Given the description of an element on the screen output the (x, y) to click on. 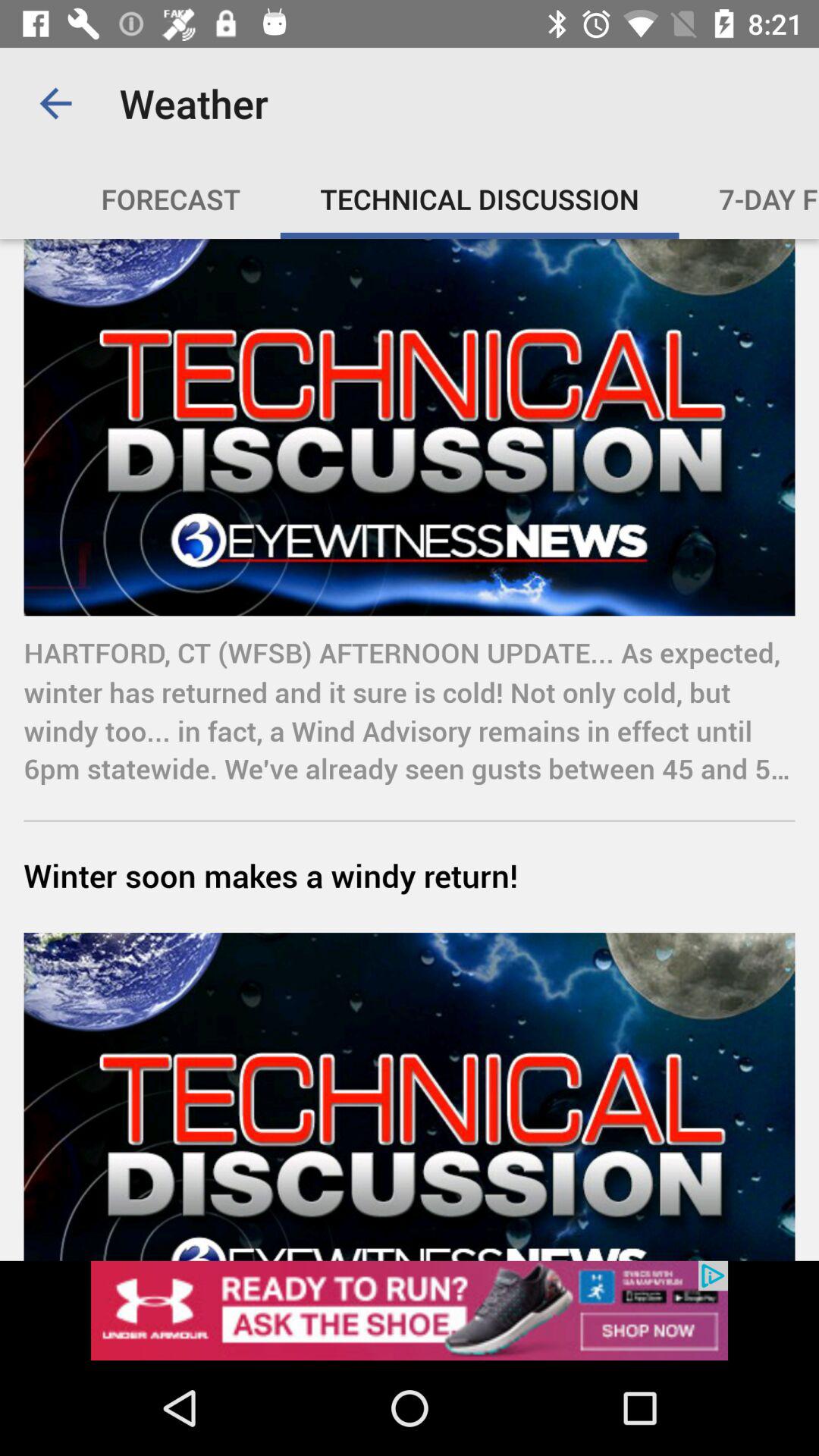
go to the advertising website (409, 1310)
